Given the description of an element on the screen output the (x, y) to click on. 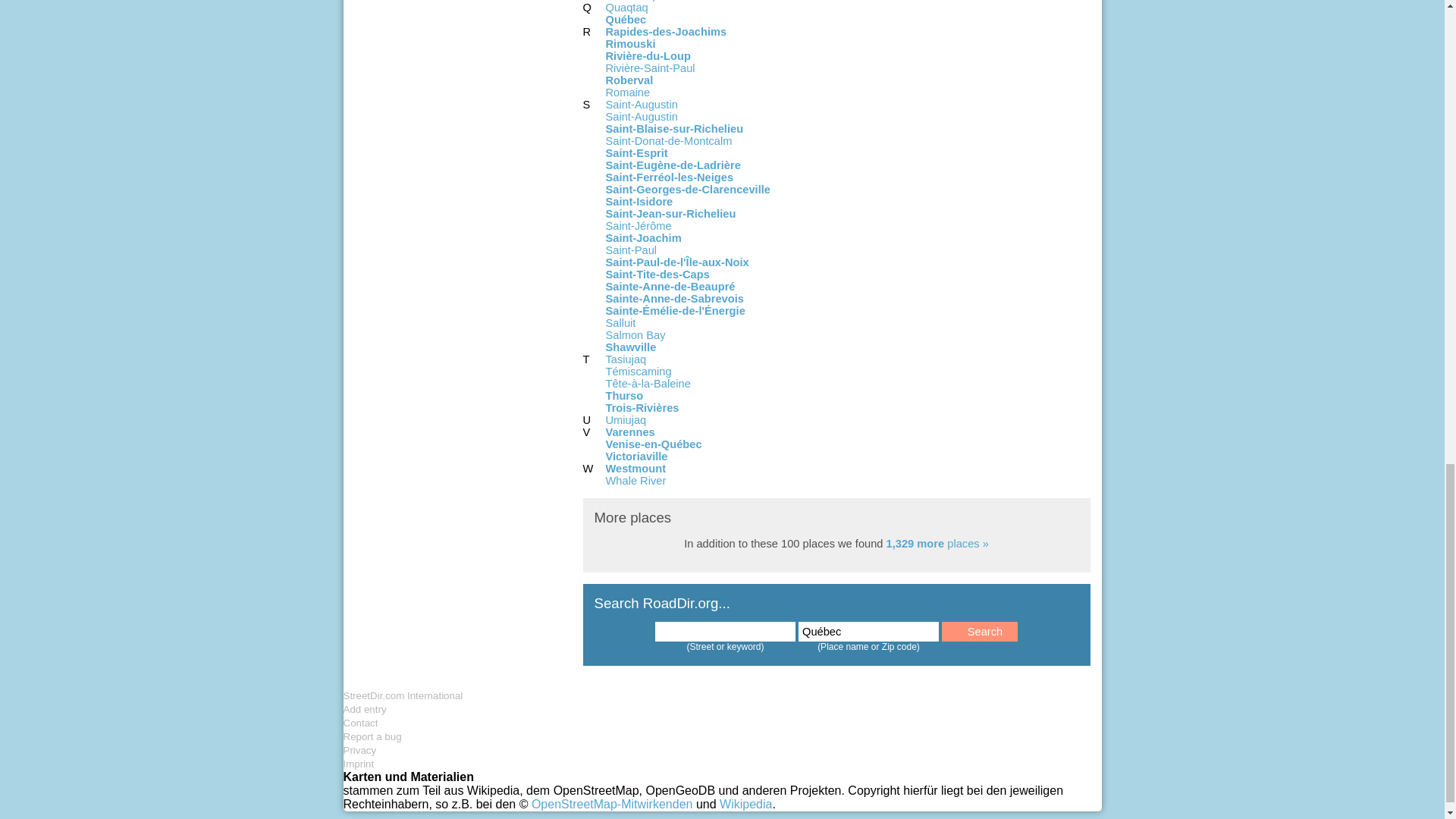
StreetDir.com International (402, 695)
Report a bug (371, 736)
Search (979, 631)
Add entry (363, 708)
Contact (359, 722)
